Given the description of an element on the screen output the (x, y) to click on. 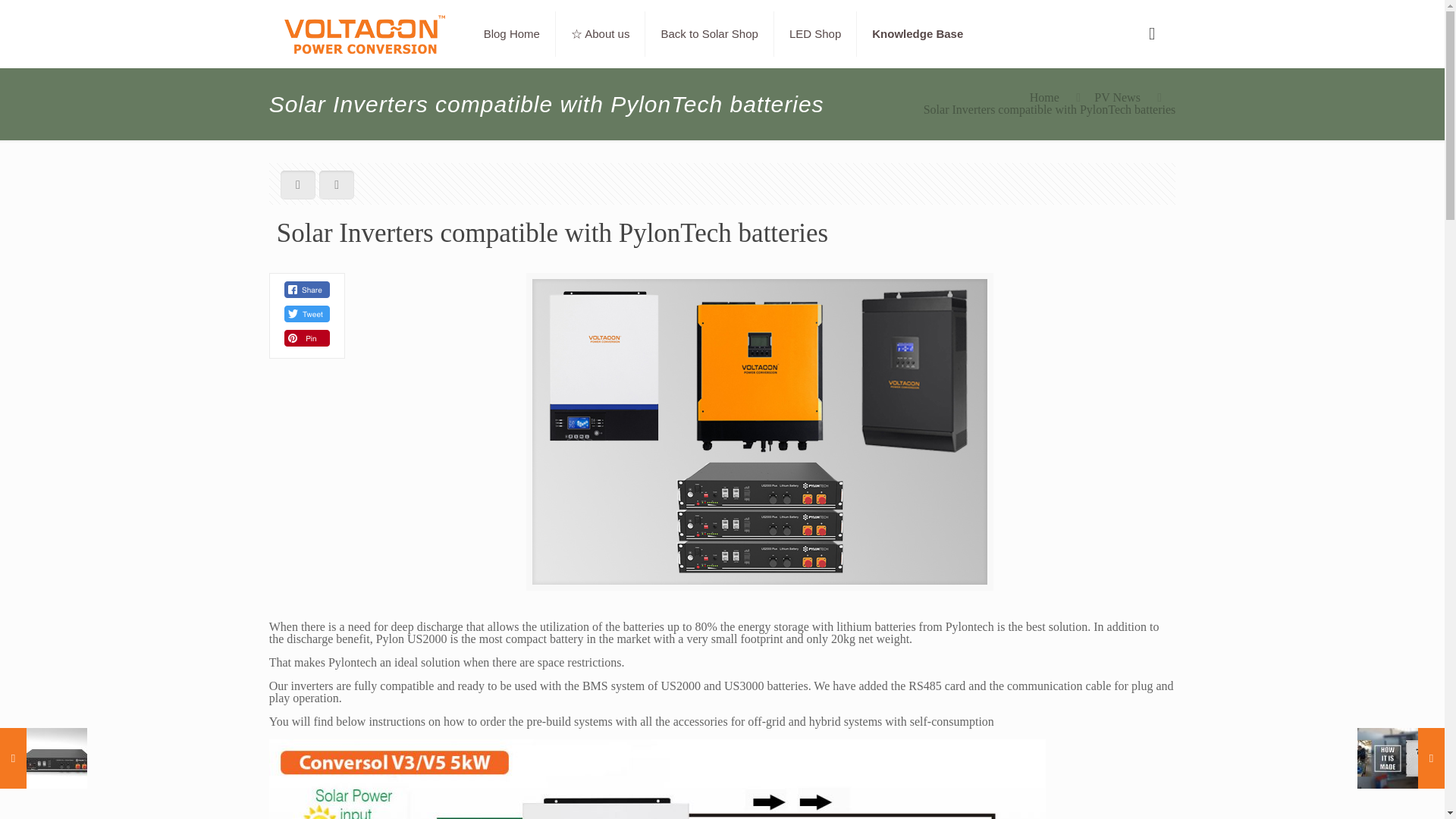
Home (1044, 97)
Back to Solar Shop (709, 33)
Knowledge Base (917, 33)
PV News (1117, 97)
Blog Home (512, 33)
LED Shop (815, 33)
